Given the description of an element on the screen output the (x, y) to click on. 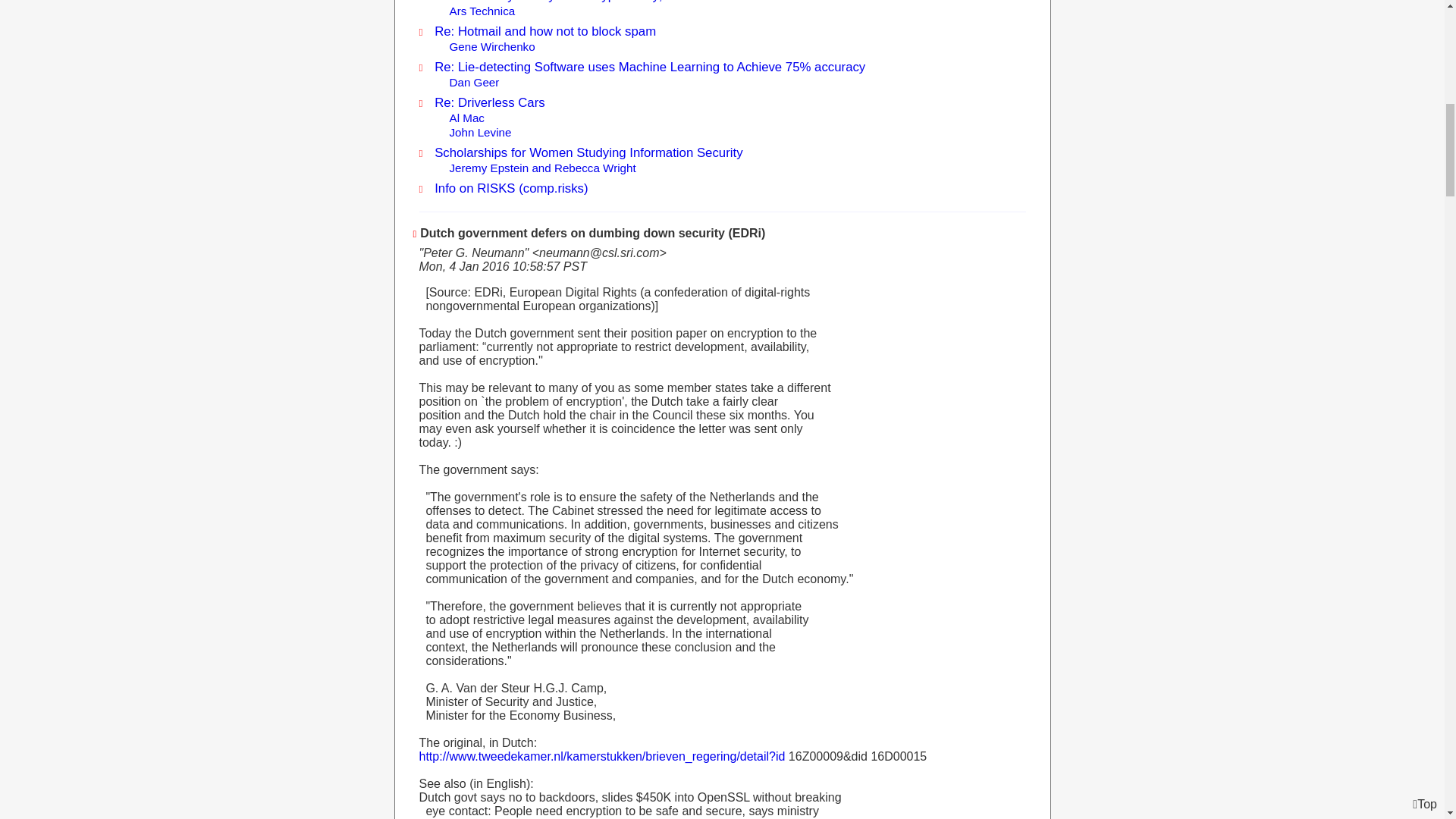
Re: Hotmail and how not to block spam (544, 31)
Gene Wirchenko (491, 46)
Ars Technica (481, 10)
